Given the description of an element on the screen output the (x, y) to click on. 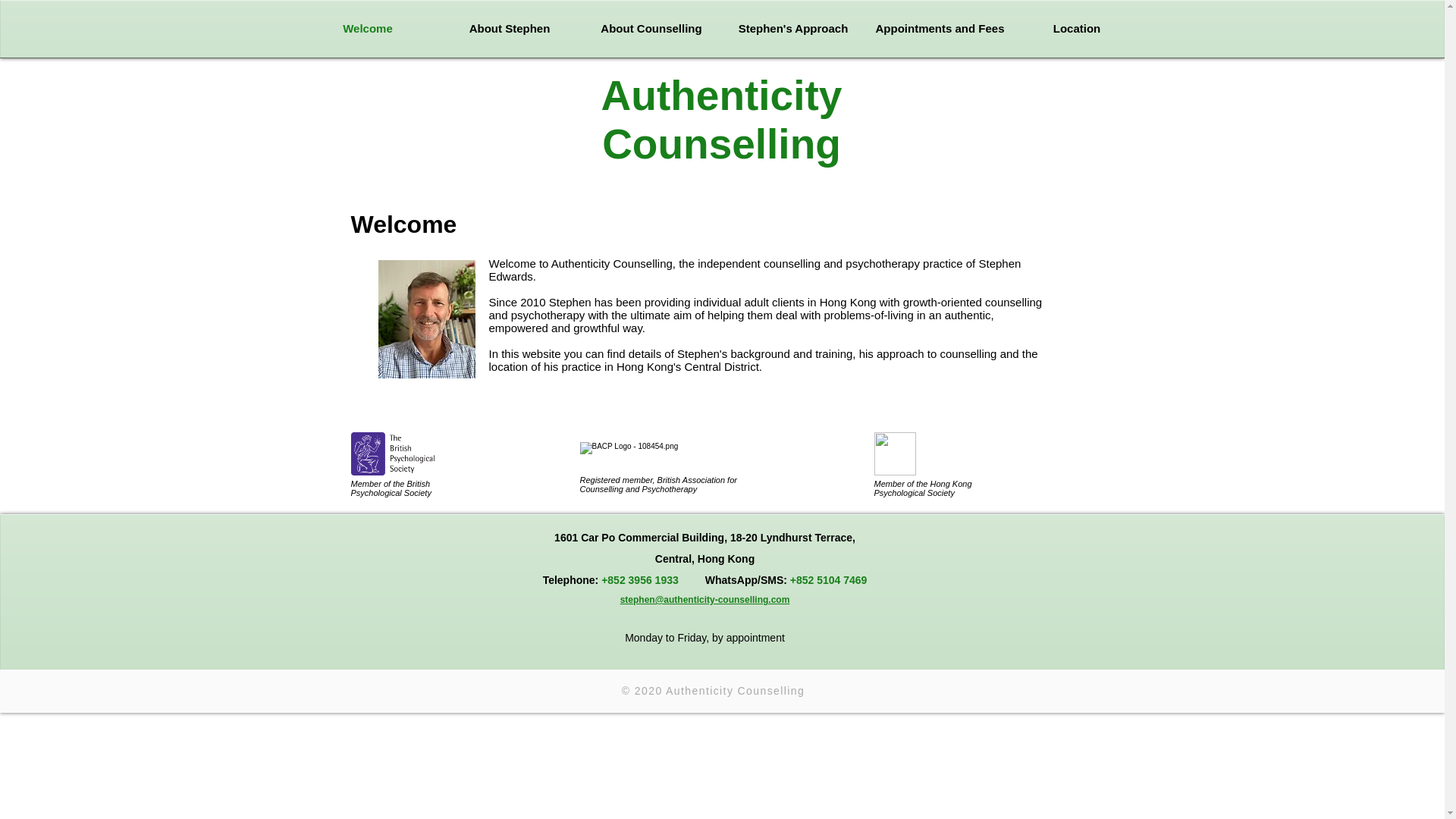
Location (1076, 28)
Appointments and Fees (935, 28)
About Counselling (651, 28)
Welcome (368, 28)
About Stephen (508, 28)
Stephen's Approach (792, 28)
